Given the description of an element on the screen output the (x, y) to click on. 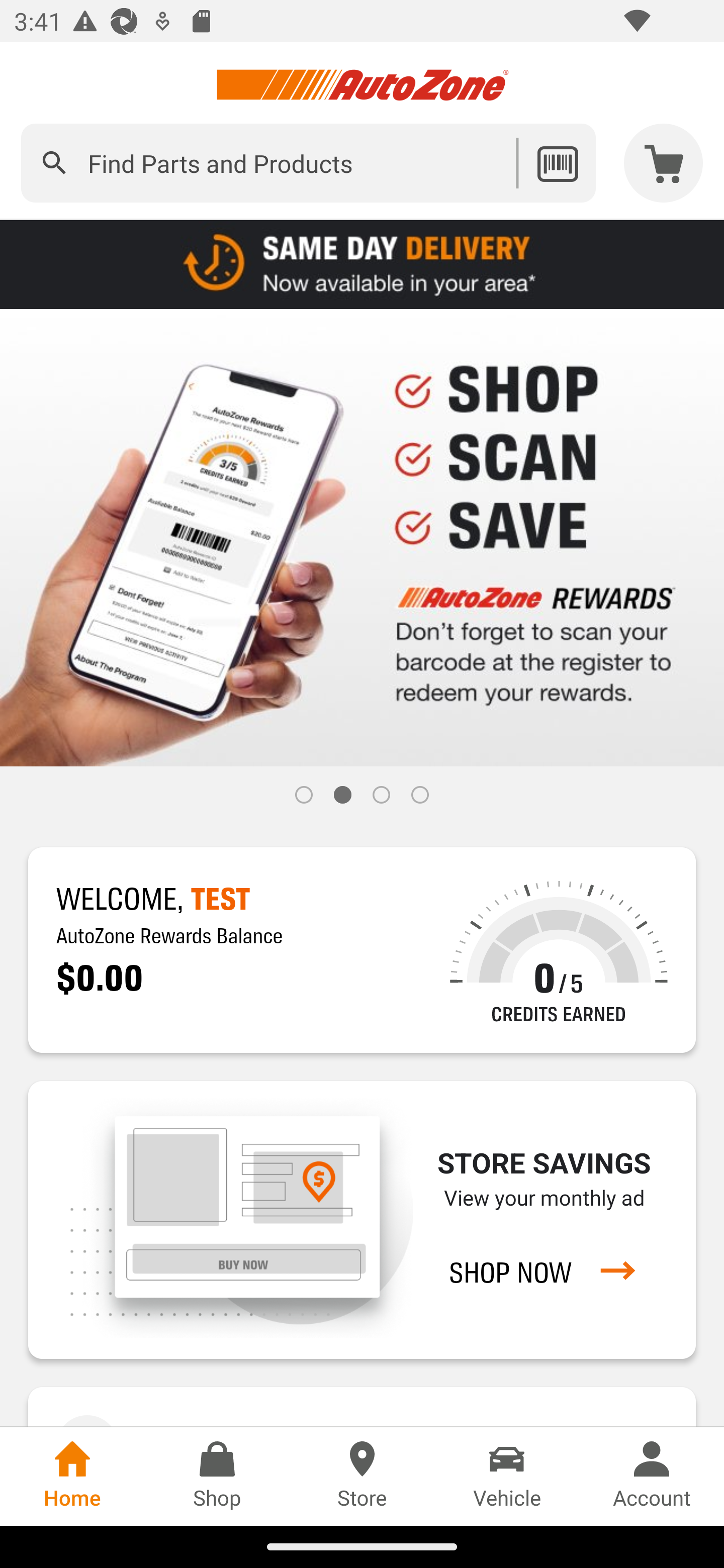
 scan-product-to-search  (557, 162)
 (54, 163)
Cart, no items  (663, 162)
Same Day Delivery - now available in your area* (362, 262)
Home (72, 1475)
Shop (216, 1475)
Store (361, 1475)
Vehicle (506, 1475)
Account (651, 1475)
